Given the description of an element on the screen output the (x, y) to click on. 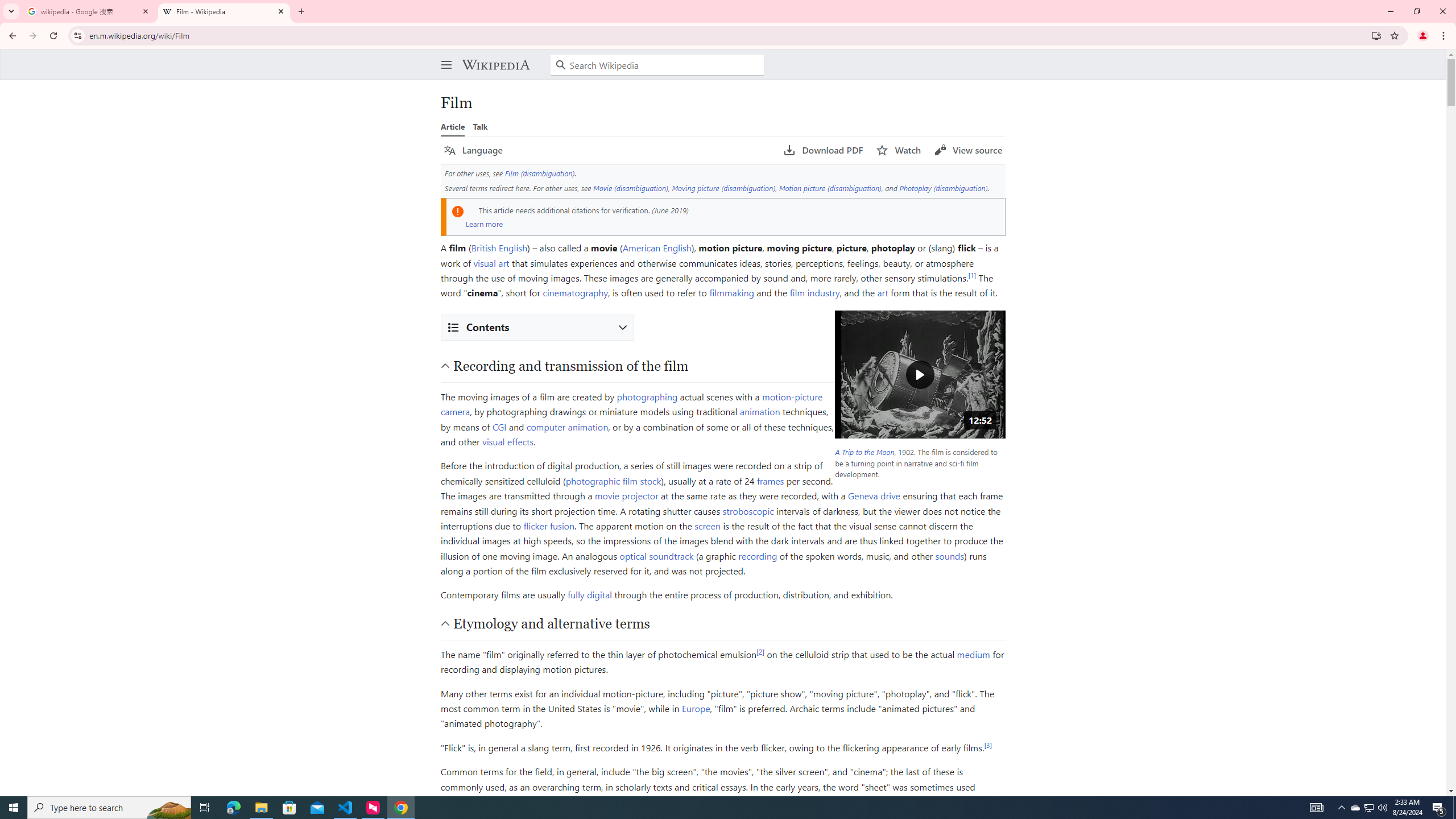
[3] (988, 744)
medium (973, 653)
Film (disambiguation) (539, 173)
sounds (948, 555)
fully digital (589, 594)
flicker fusion (548, 525)
screen (707, 525)
visual art (491, 262)
stroboscopic (748, 510)
British English (498, 247)
AutomationID: page-actions-watch (898, 150)
movie projector (626, 495)
[1] (972, 275)
